Given the description of an element on the screen output the (x, y) to click on. 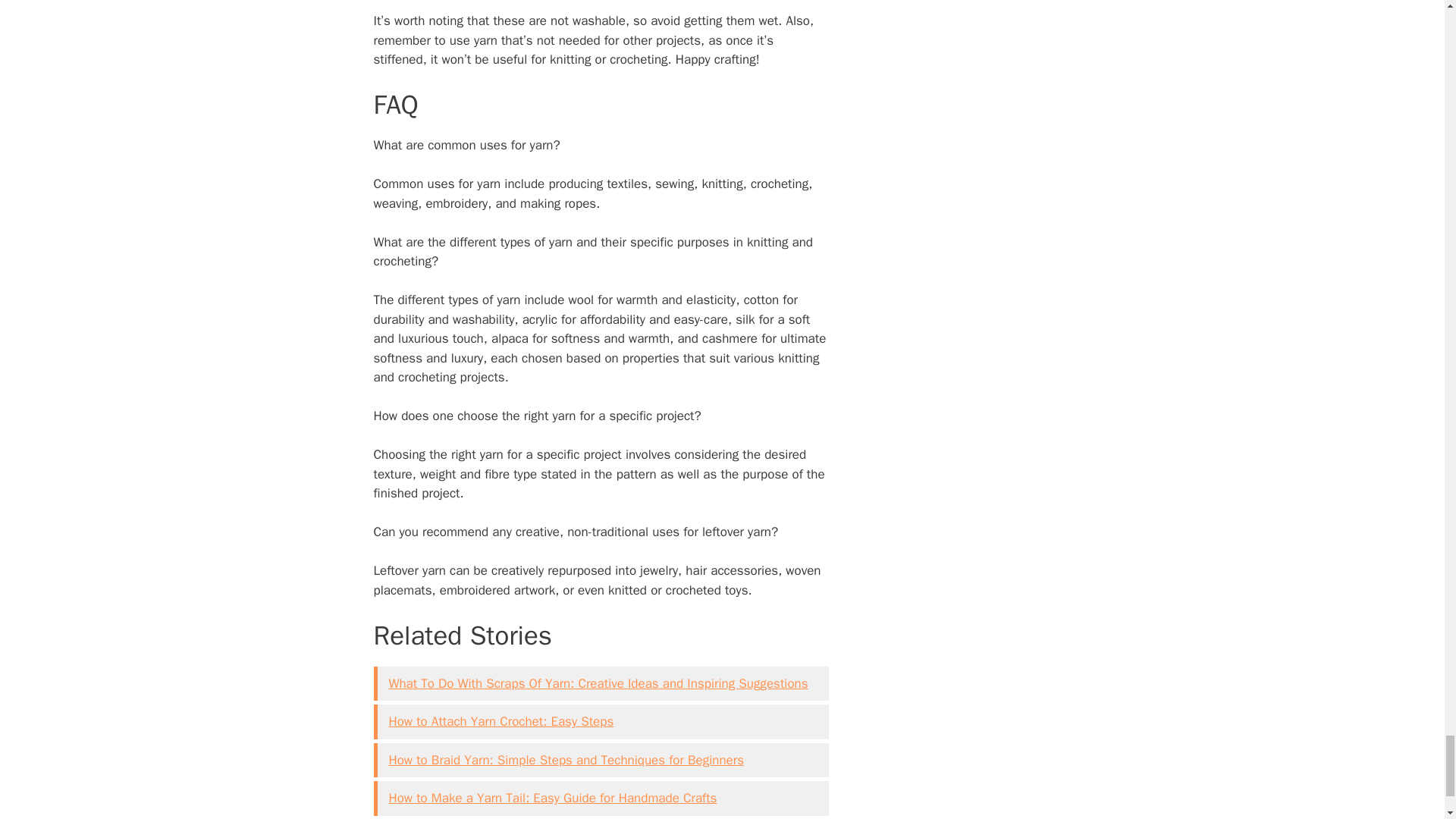
How to Braid Yarn: Simple Steps and Techniques for Beginners (566, 760)
How to Make a Yarn Tail: Easy Guide for Handmade Crafts (552, 797)
How to Attach Yarn Crochet: Easy Steps (500, 721)
How to Attach Yarn Crochet: Easy Steps (500, 721)
How to Braid Yarn: Simple Steps and Techniques for Beginners (566, 760)
How to Make a Yarn Tail: Easy Guide for Handmade Crafts (552, 797)
